Given the description of an element on the screen output the (x, y) to click on. 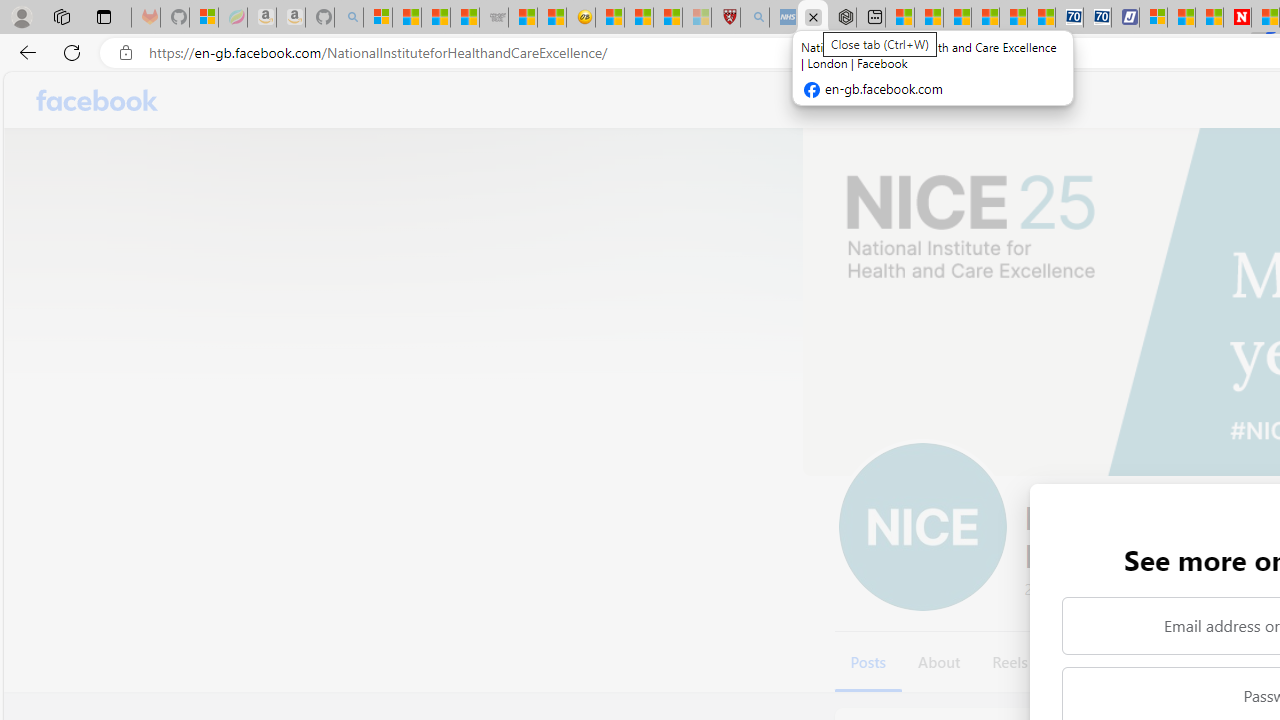
Robert H. Shmerling, MD - Harvard Health (725, 17)
Recipes - MSN (610, 17)
